Given the description of an element on the screen output the (x, y) to click on. 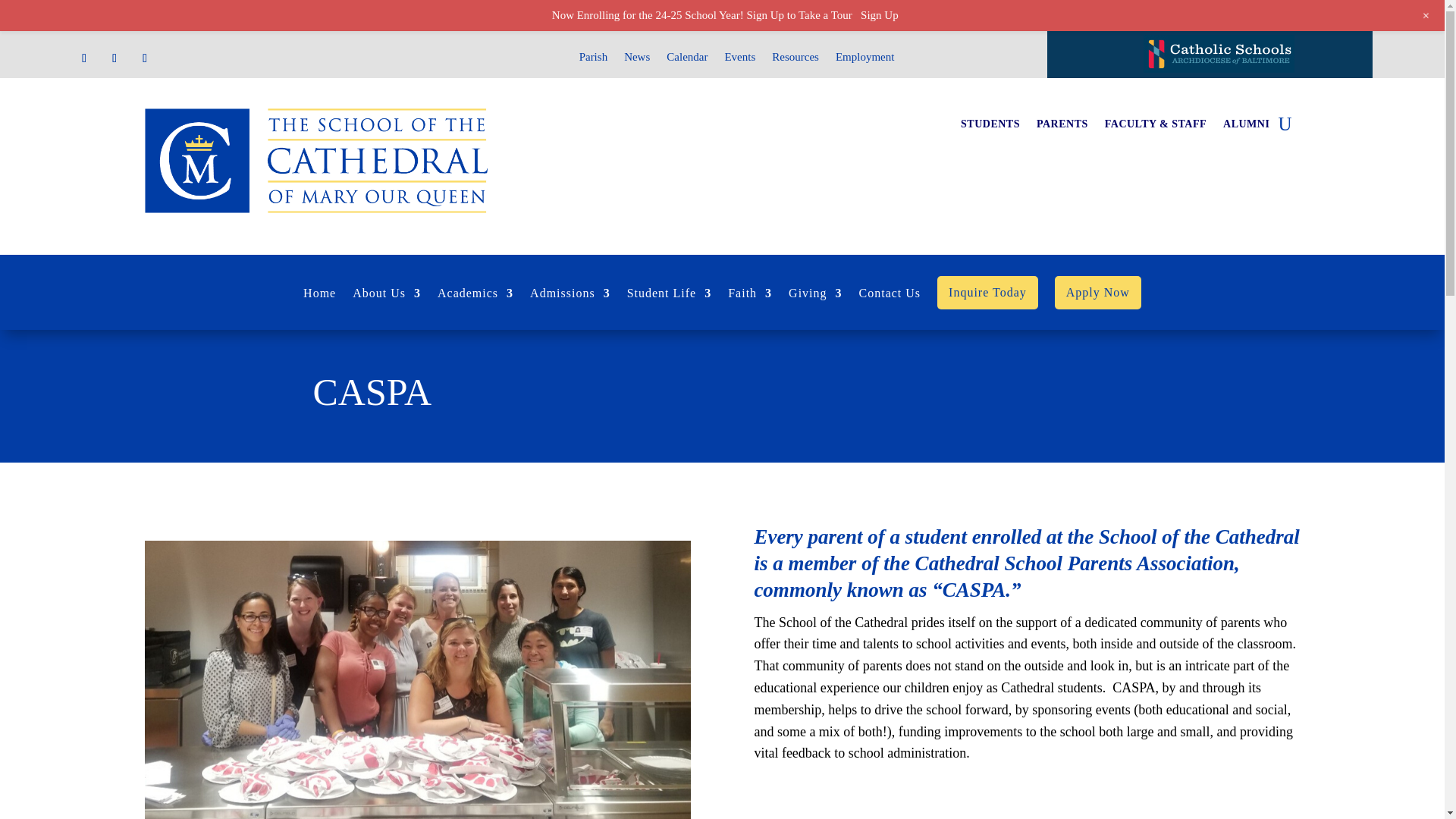
News (636, 59)
Follow on Instagram (144, 57)
Employment (865, 59)
CMOQ school logo RGB (315, 160)
Parish (593, 59)
STUDENTS (990, 126)
Resources (794, 59)
PARENTS (1061, 126)
Events (739, 59)
Follow on Facebook (83, 57)
CSAOB (1218, 53)
Follow on X (113, 57)
ALUMNI (1246, 126)
Calendar (686, 59)
